Given the description of an element on the screen output the (x, y) to click on. 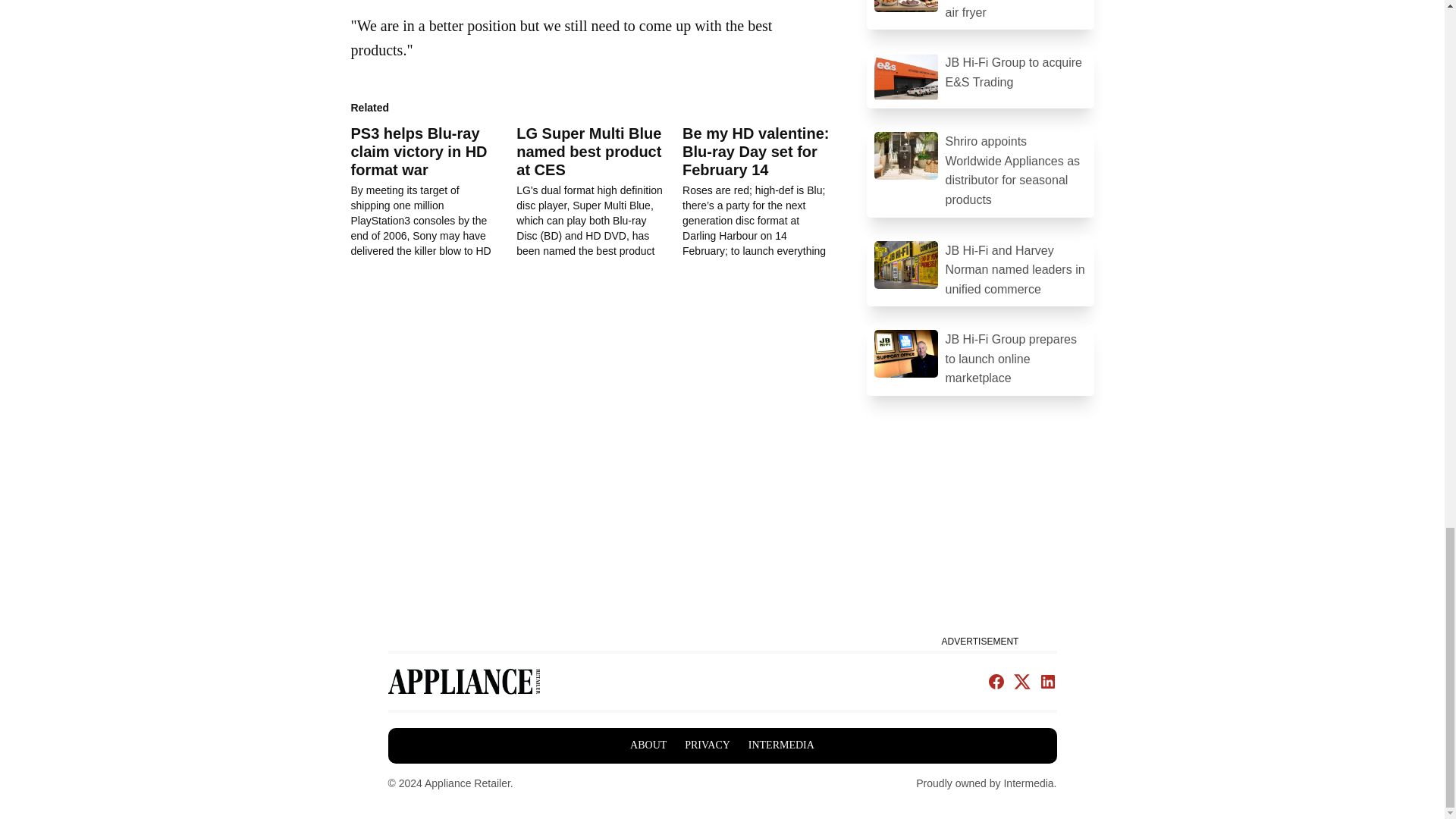
LG Super Multi Blue named best product at CES (588, 151)
Be my HD valentine: Blu-ray Day set for February 14 (765, 191)
LG Super Multi Blue named best product at CES (599, 191)
PS3 helps Blu-ray claim victory in HD format war (418, 151)
JB Hi-Fi and Harvey Norman named leaders in unified commerce (979, 269)
PS3 helps Blu-ray claim victory in HD format war (433, 191)
JB Hi-Fi Group prepares to launch online marketplace (979, 359)
Be my HD valentine: Blu-ray Day set for February 14 (755, 151)
3rd party ad content (979, 535)
